Given the description of an element on the screen output the (x, y) to click on. 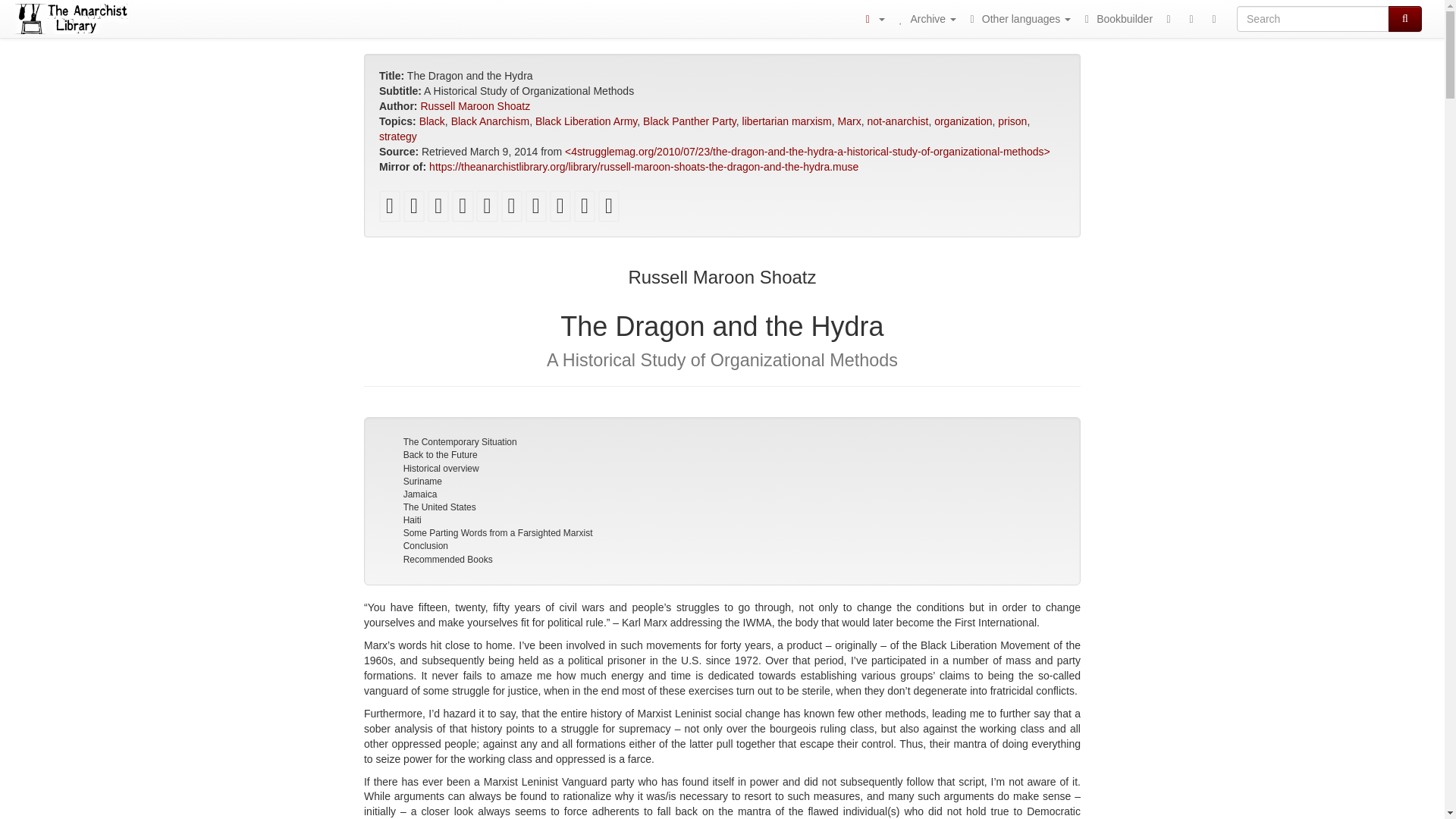
texts by authors, title, topic... (924, 18)
Bookbuilder (1116, 18)
Other languages (1017, 18)
Other languages (1017, 18)
Search (1405, 18)
Bookbuilder (1116, 18)
Archive (924, 18)
